Given the description of an element on the screen output the (x, y) to click on. 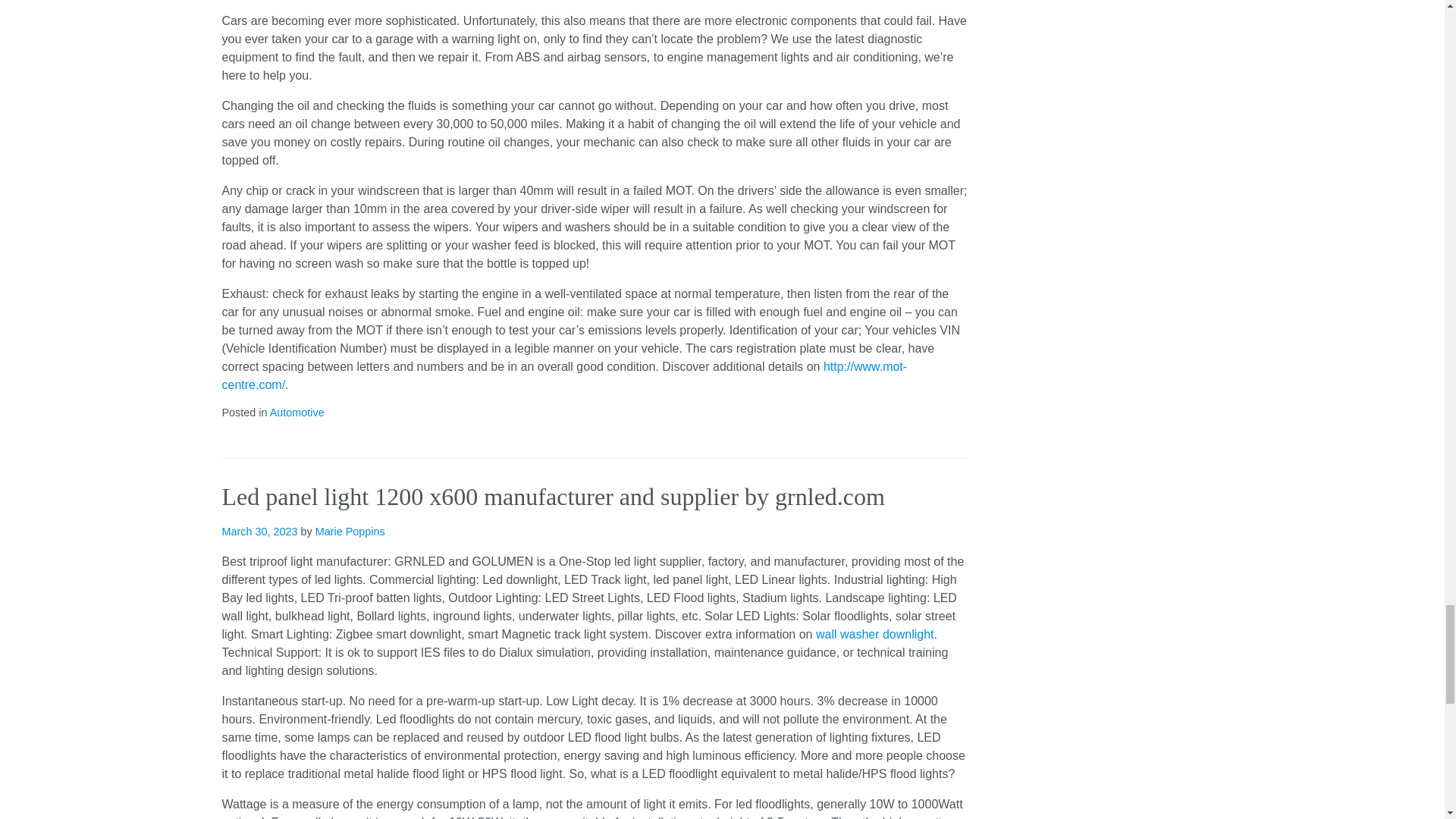
Automotive (296, 412)
wall washer downlight (874, 634)
March 30, 2023 (259, 531)
Marie Poppins (350, 531)
